Given the description of an element on the screen output the (x, y) to click on. 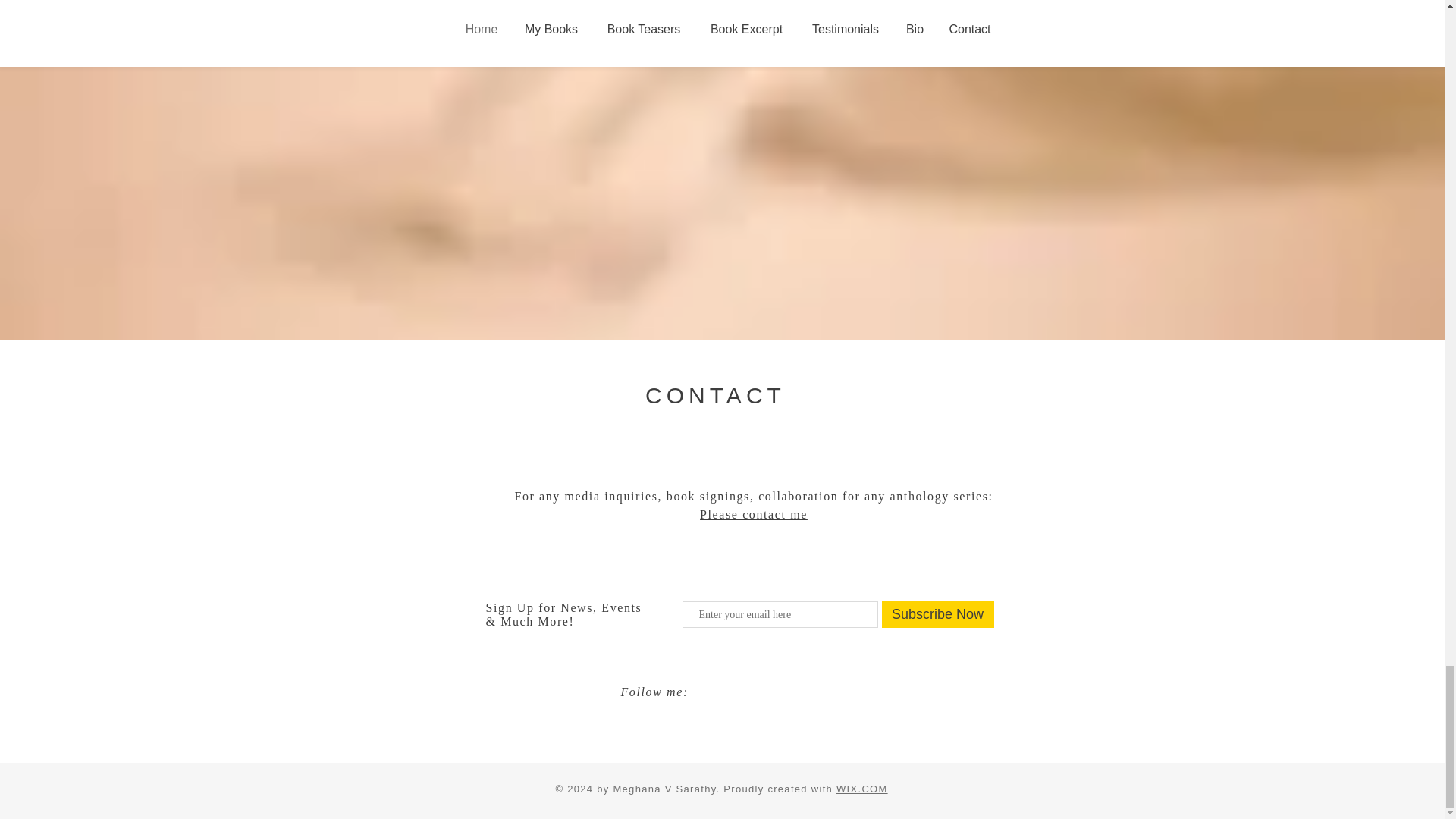
WIX.COM (861, 788)
Please contact me (754, 513)
Subscribe Now (936, 614)
